Given the description of an element on the screen output the (x, y) to click on. 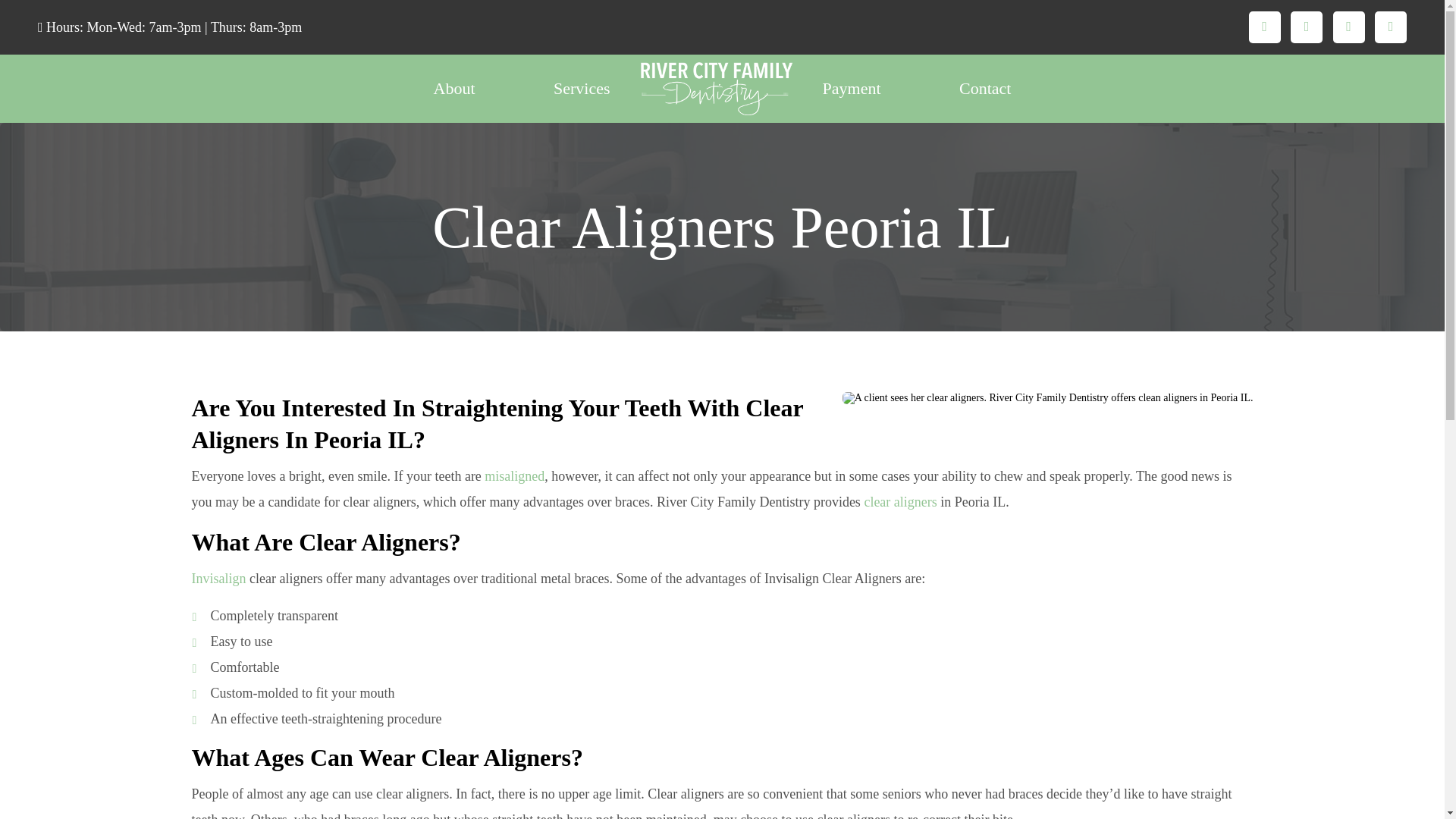
Services (581, 87)
Payment (851, 87)
clear aligners (899, 501)
Invisalign (218, 578)
Contact (984, 87)
About (454, 87)
misaligned (514, 476)
